Given the description of an element on the screen output the (x, y) to click on. 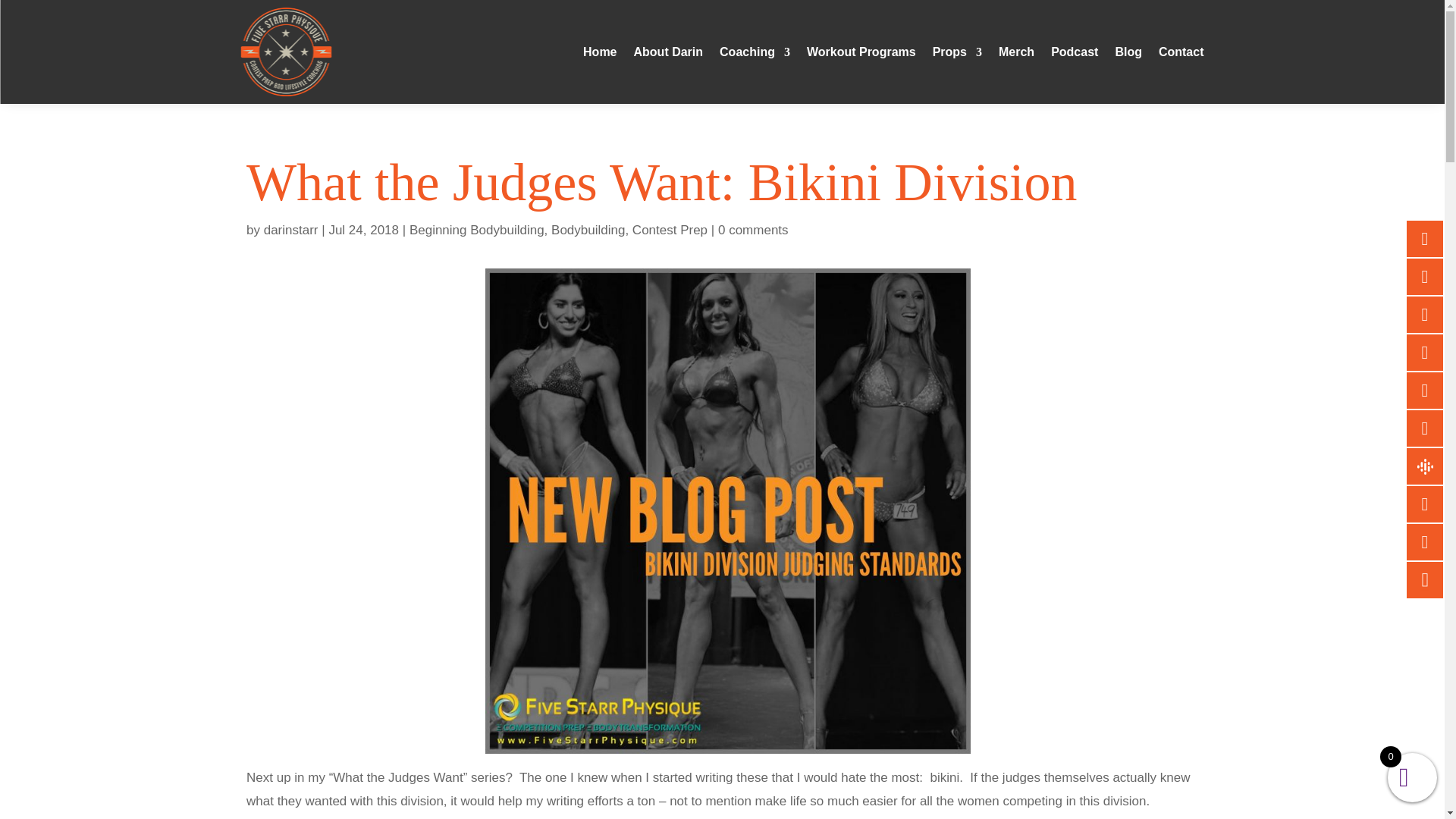
Beginning Bodybuilding (476, 229)
Bodybuilding (587, 229)
Podcast (1074, 51)
Workout Programs (860, 51)
0 comments (753, 229)
darinstarr (290, 229)
About Darin (668, 51)
Coaching (754, 51)
Home (599, 51)
Contact (1181, 51)
Props (957, 51)
Posts by darinstarr (290, 229)
Blog (1128, 51)
Contest Prep (669, 229)
Merch (1015, 51)
